Given the description of an element on the screen output the (x, y) to click on. 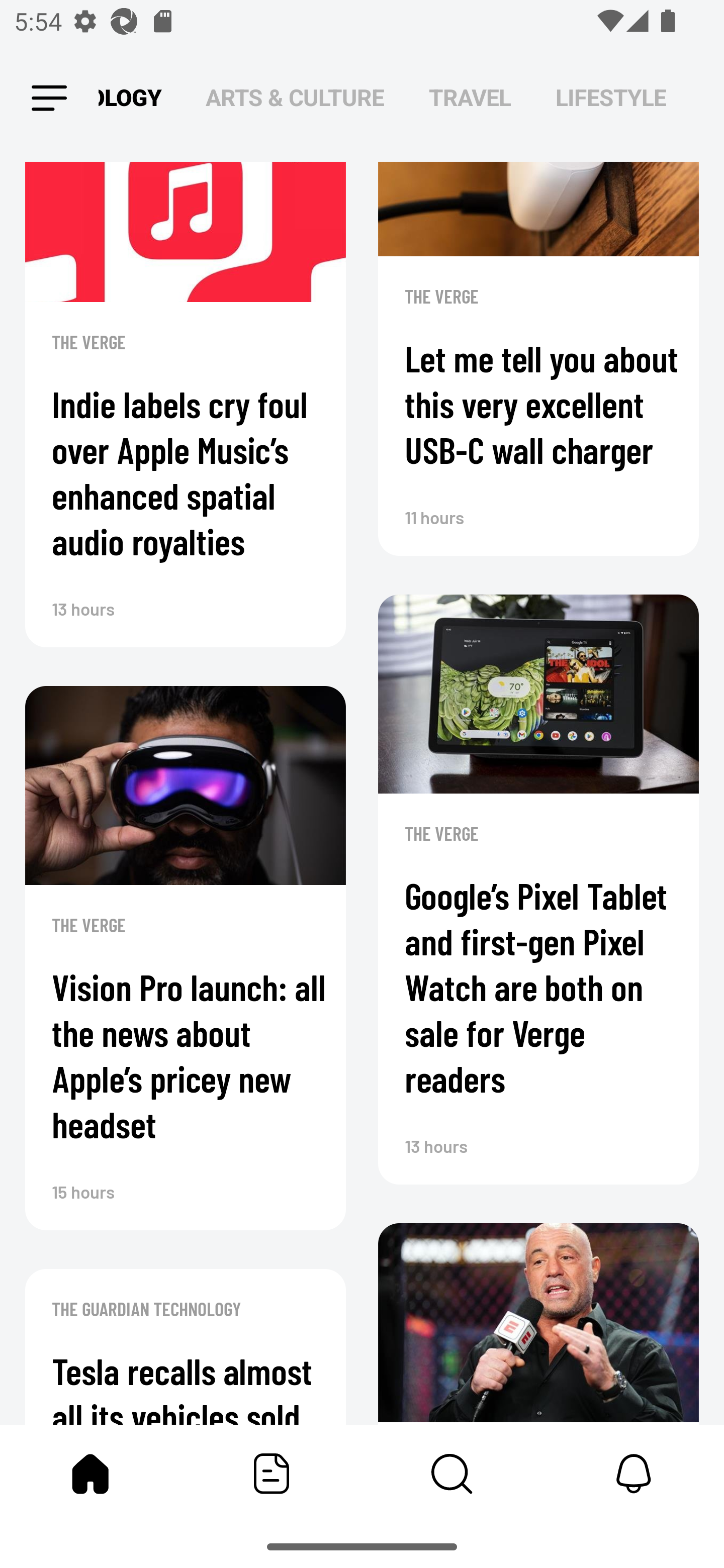
Leading Icon (49, 98)
ARTS & CULTURE (294, 97)
TRAVEL (469, 97)
LIFESTYLE (610, 97)
Featured (271, 1473)
Content Store (452, 1473)
Notifications (633, 1473)
